Given the description of an element on the screen output the (x, y) to click on. 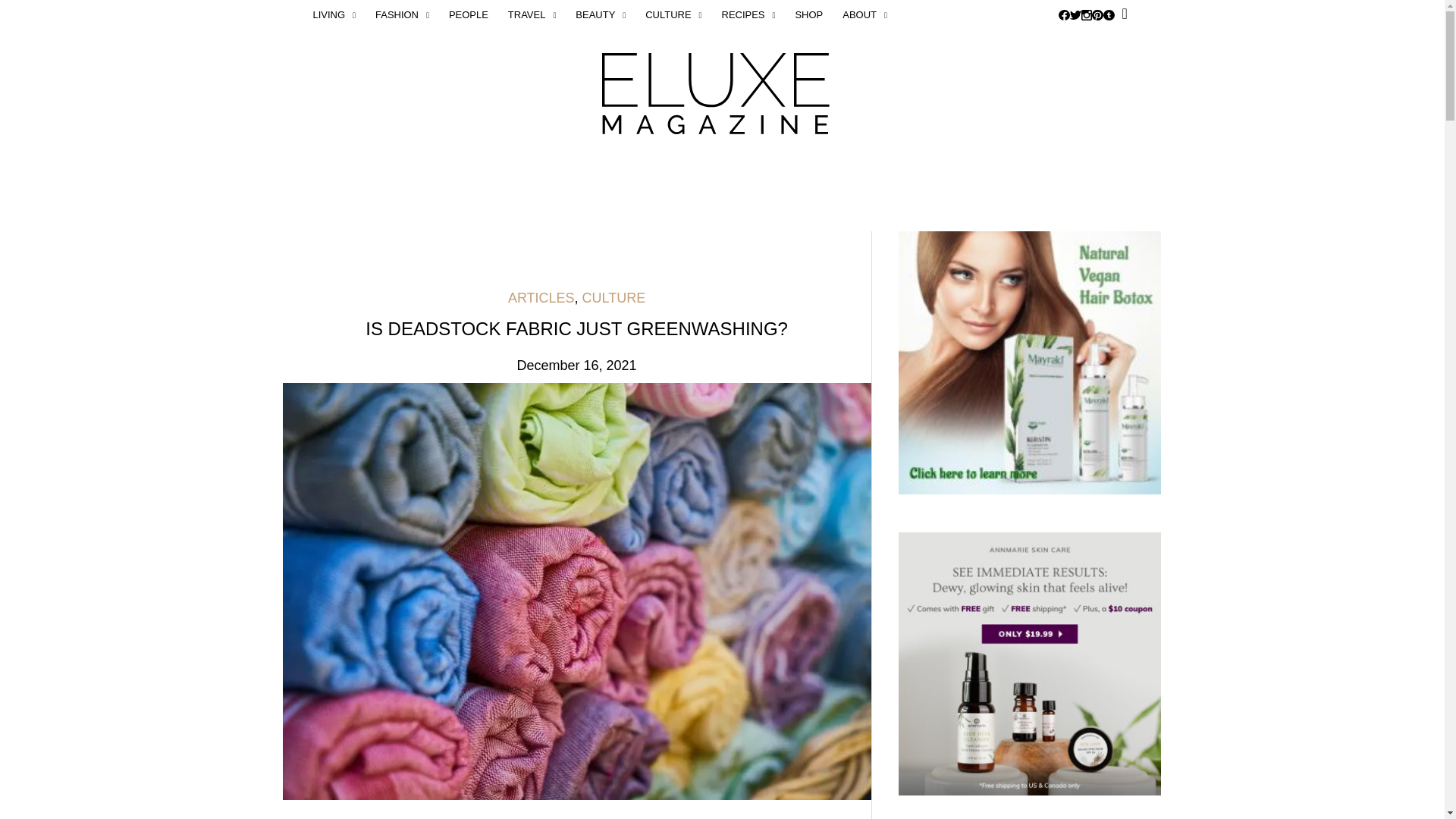
CULTURE (672, 15)
LIVING (339, 15)
BEAUTY (600, 15)
RECIPES (748, 15)
TRAVEL (531, 15)
FASHION (402, 15)
PEOPLE (468, 15)
